Given the description of an element on the screen output the (x, y) to click on. 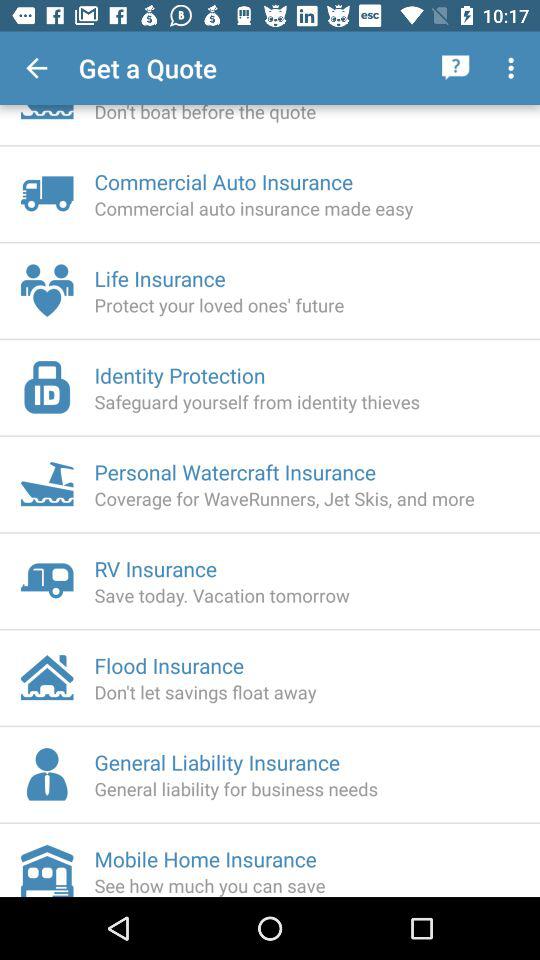
click on first icon at the top right corner (456, 68)
